Given the description of an element on the screen output the (x, y) to click on. 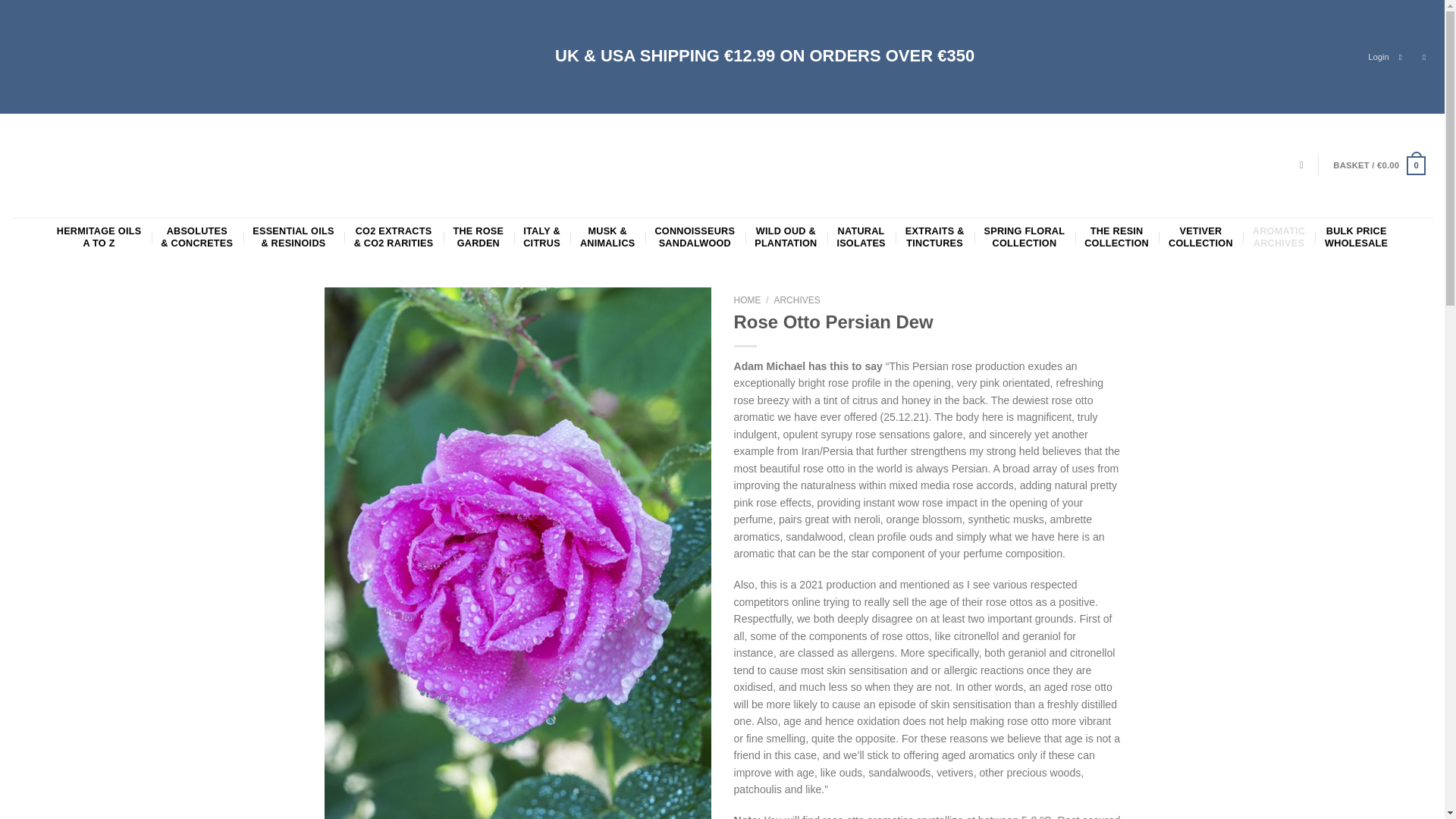
Basket (1379, 165)
Hermitage Essential Oils (477, 237)
ARCHIVES (694, 237)
